Given the description of an element on the screen output the (x, y) to click on. 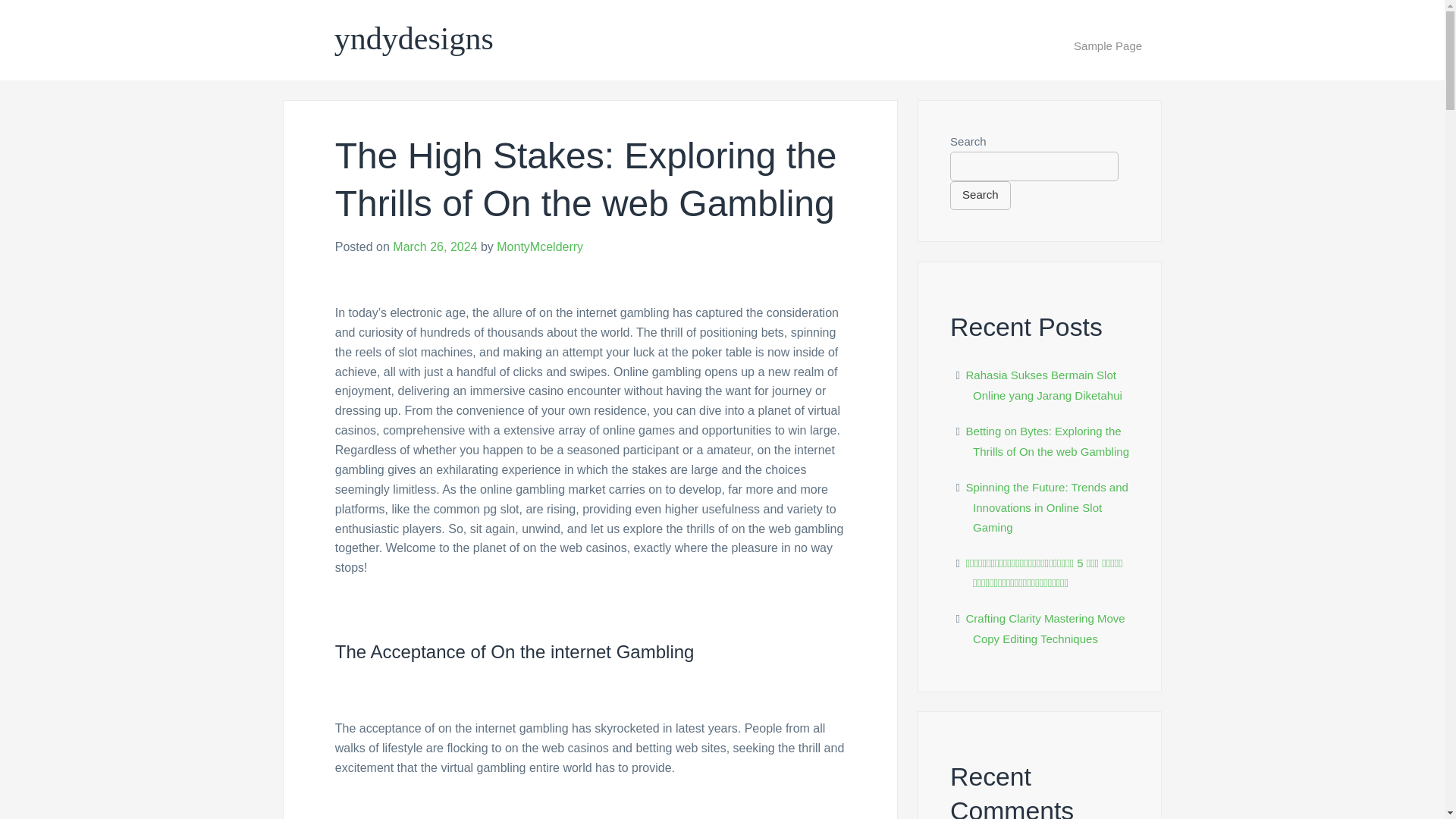
MontyMcelderry (539, 246)
yndydesigns (413, 38)
Crafting Clarity Mastering Move Copy Editing Techniques (1045, 628)
Rahasia Sukses Bermain Slot Online yang Jarang Diketahui (1044, 385)
March 26, 2024 (435, 246)
Sample Page (1107, 46)
Search (980, 194)
